Given the description of an element on the screen output the (x, y) to click on. 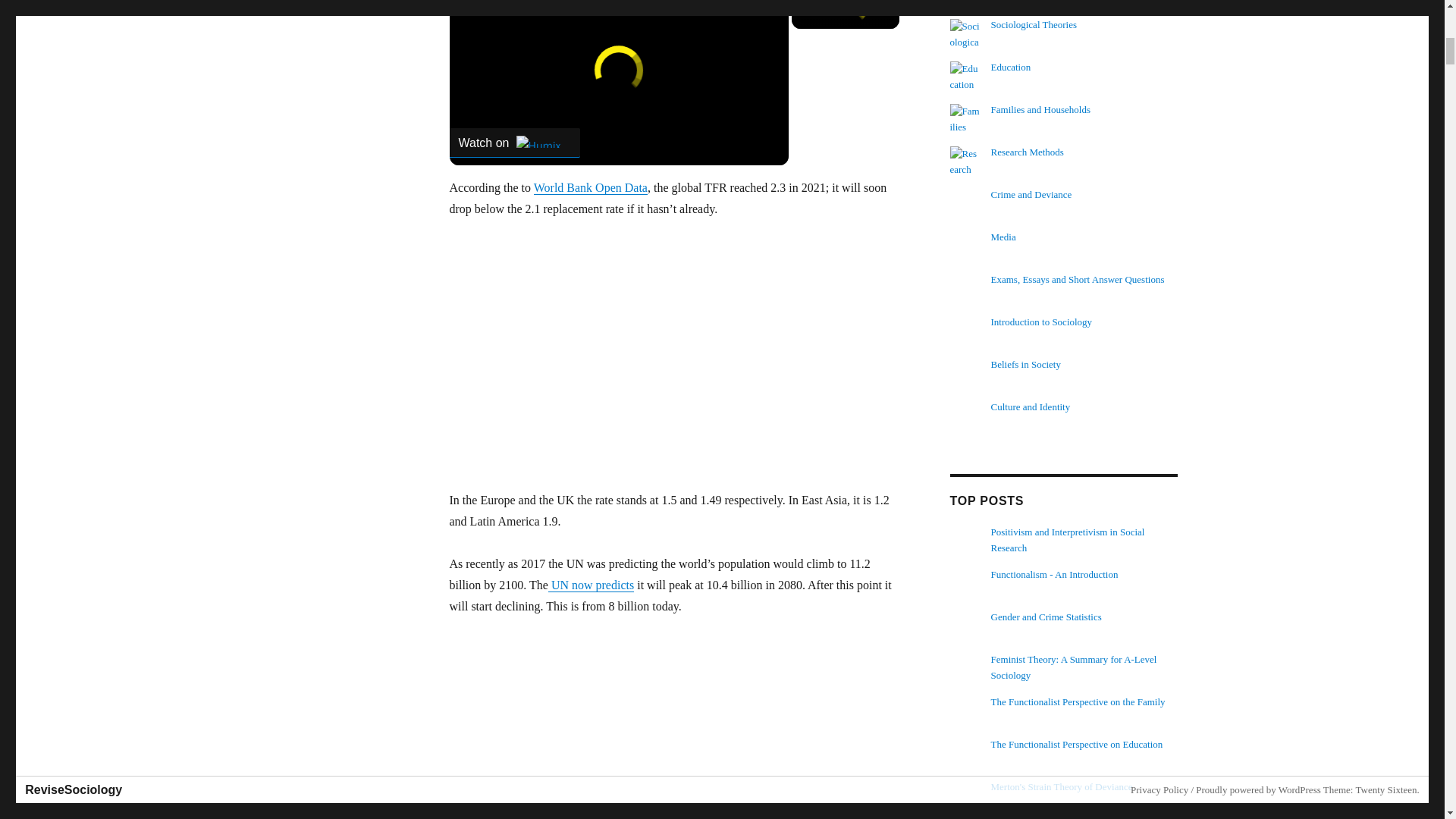
Watch on (513, 142)
Share (756, 10)
World Bank Open Data (590, 187)
share (756, 10)
UN now predicts (590, 584)
